Given the description of an element on the screen output the (x, y) to click on. 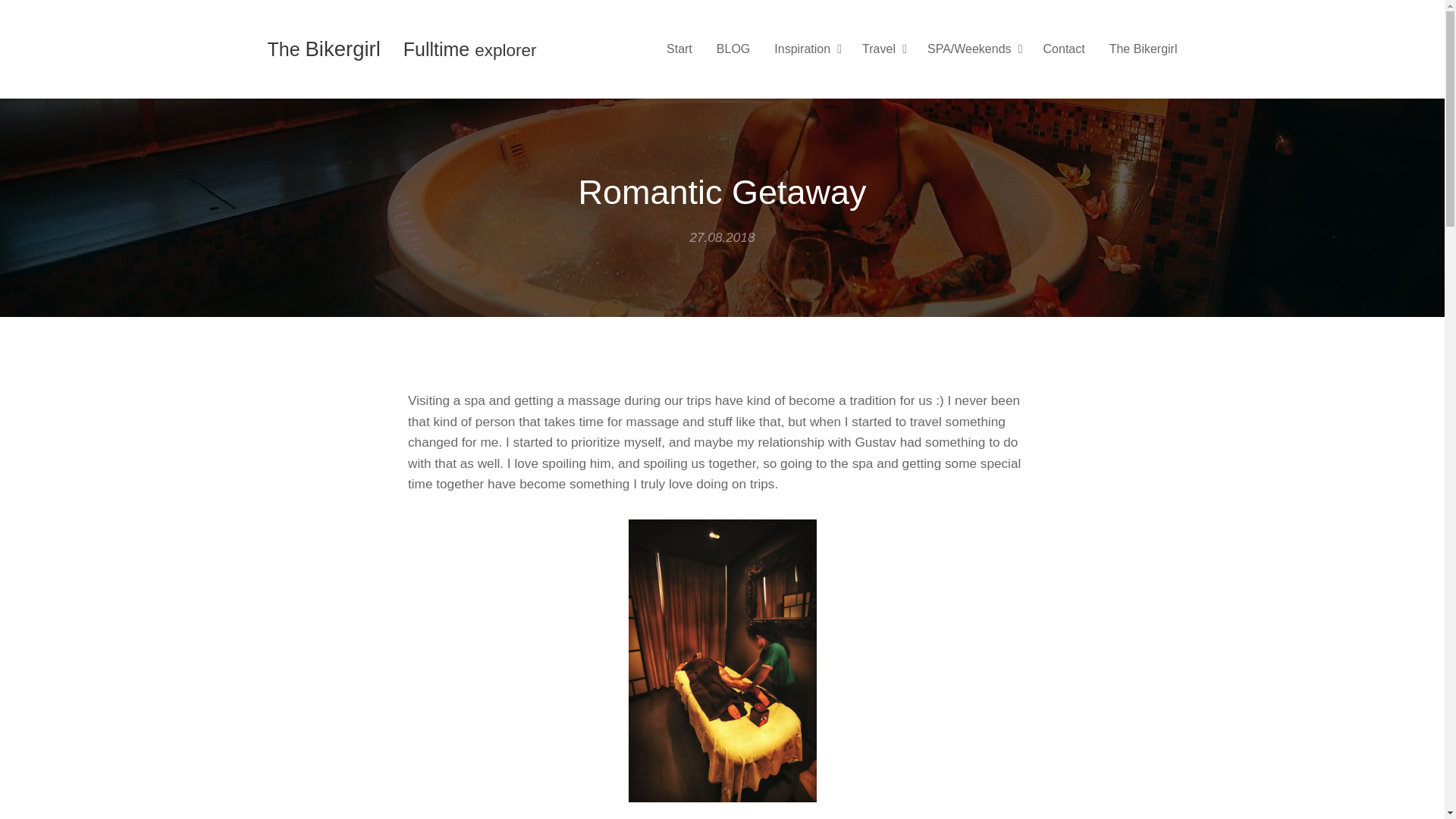
BLOG (732, 48)
Inspiration (805, 48)
Travel (882, 48)
Start (683, 48)
The Bikergirl    Fulltime explorer (401, 49)
